Given the description of an element on the screen output the (x, y) to click on. 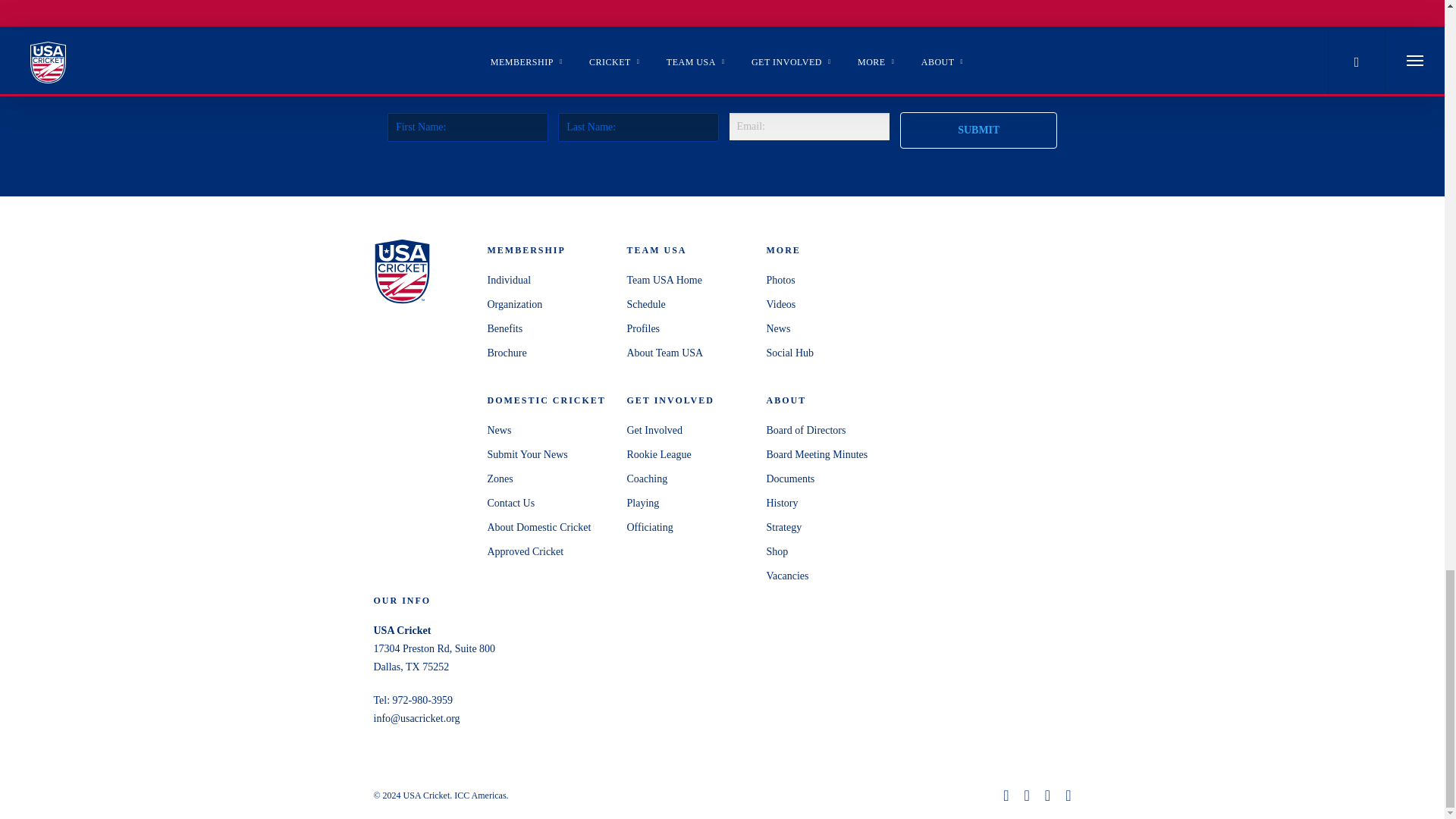
Submit (978, 130)
